Given the description of an element on the screen output the (x, y) to click on. 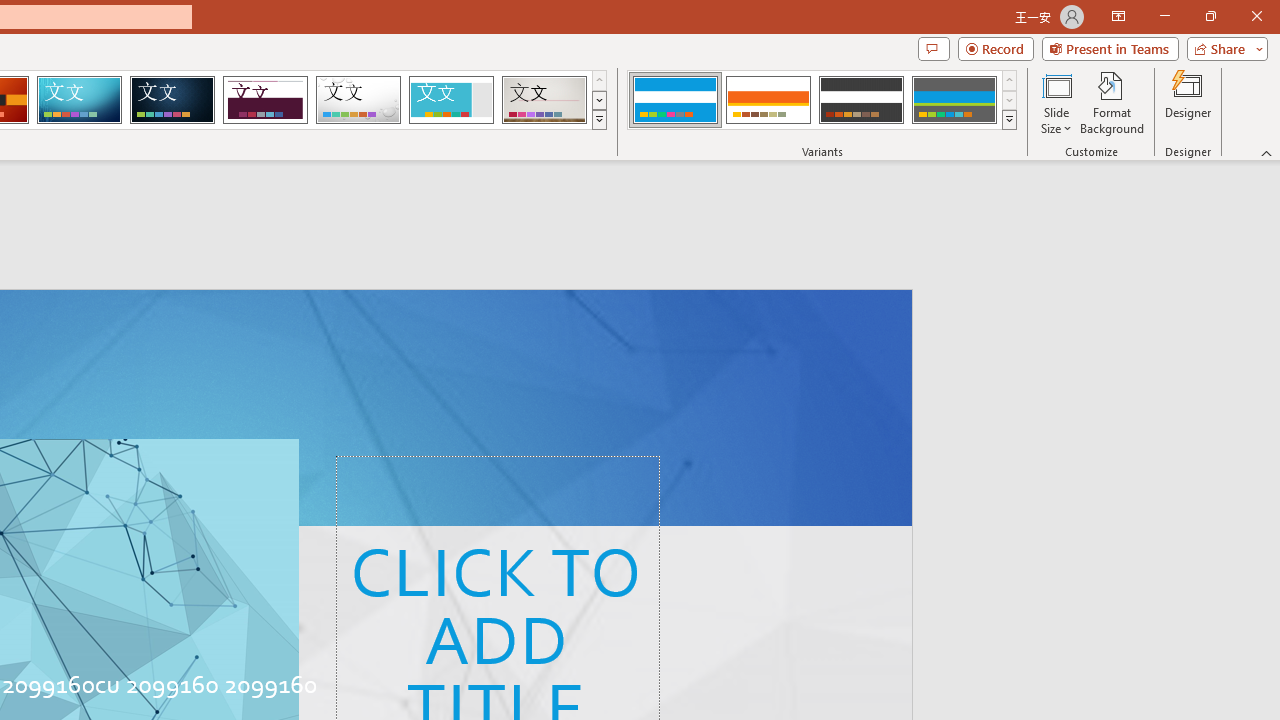
AutomationID: ThemeVariantsGallery (822, 99)
Banded Variant 2 (768, 100)
Dividend (265, 100)
Variants (1009, 120)
Slide Size (1056, 102)
Banded Variant 4 (953, 100)
